Given the description of an element on the screen output the (x, y) to click on. 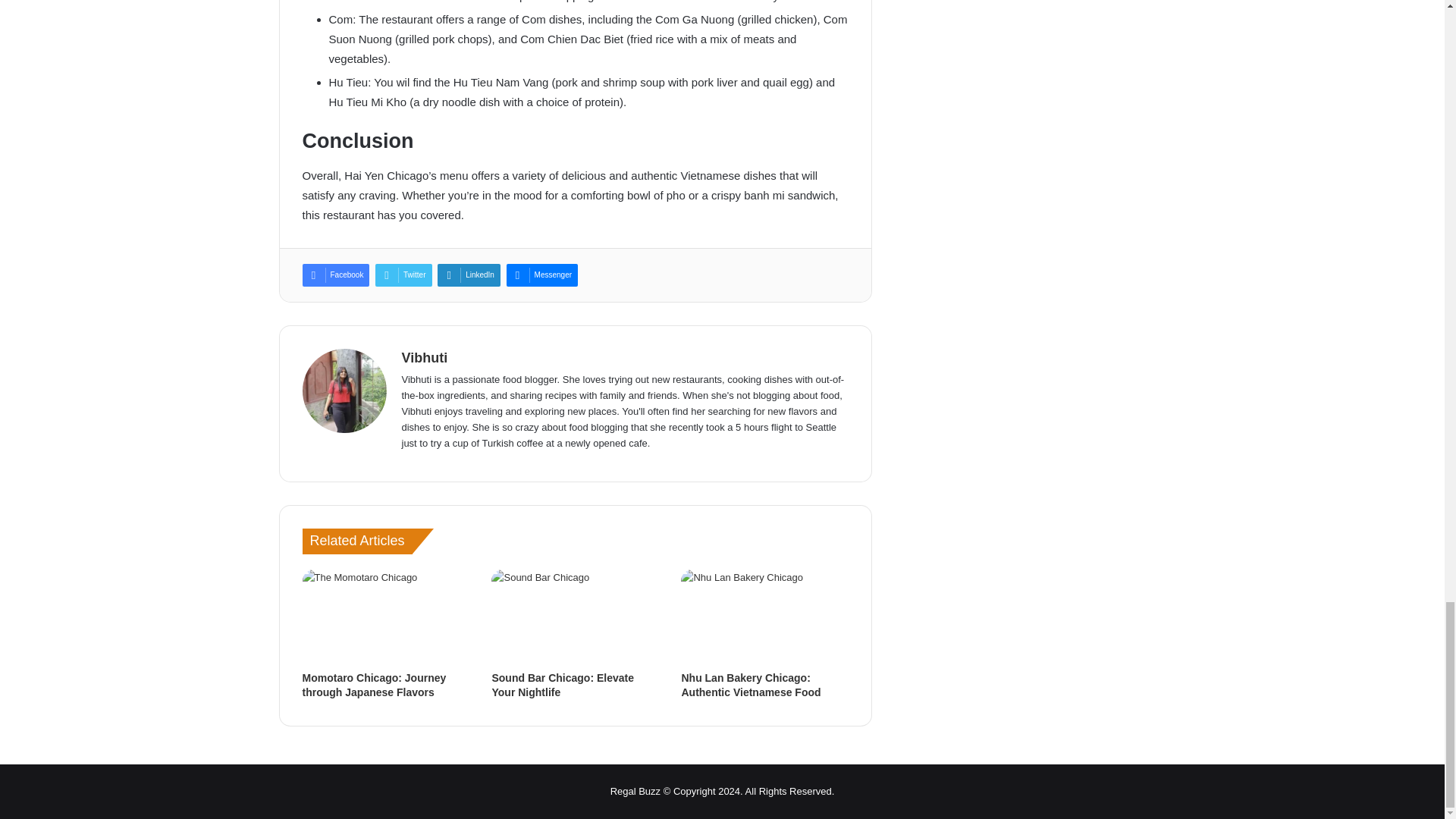
Messenger (542, 274)
Twitter (402, 274)
Facebook (335, 274)
Vibhuti (424, 357)
Twitter (402, 274)
Sound Bar Chicago: Elevate Your Nightlife (562, 684)
LinkedIn (469, 274)
LinkedIn (469, 274)
Facebook (335, 274)
Nhu Lan Bakery Chicago: Authentic Vietnamese Food (751, 684)
